Given the description of an element on the screen output the (x, y) to click on. 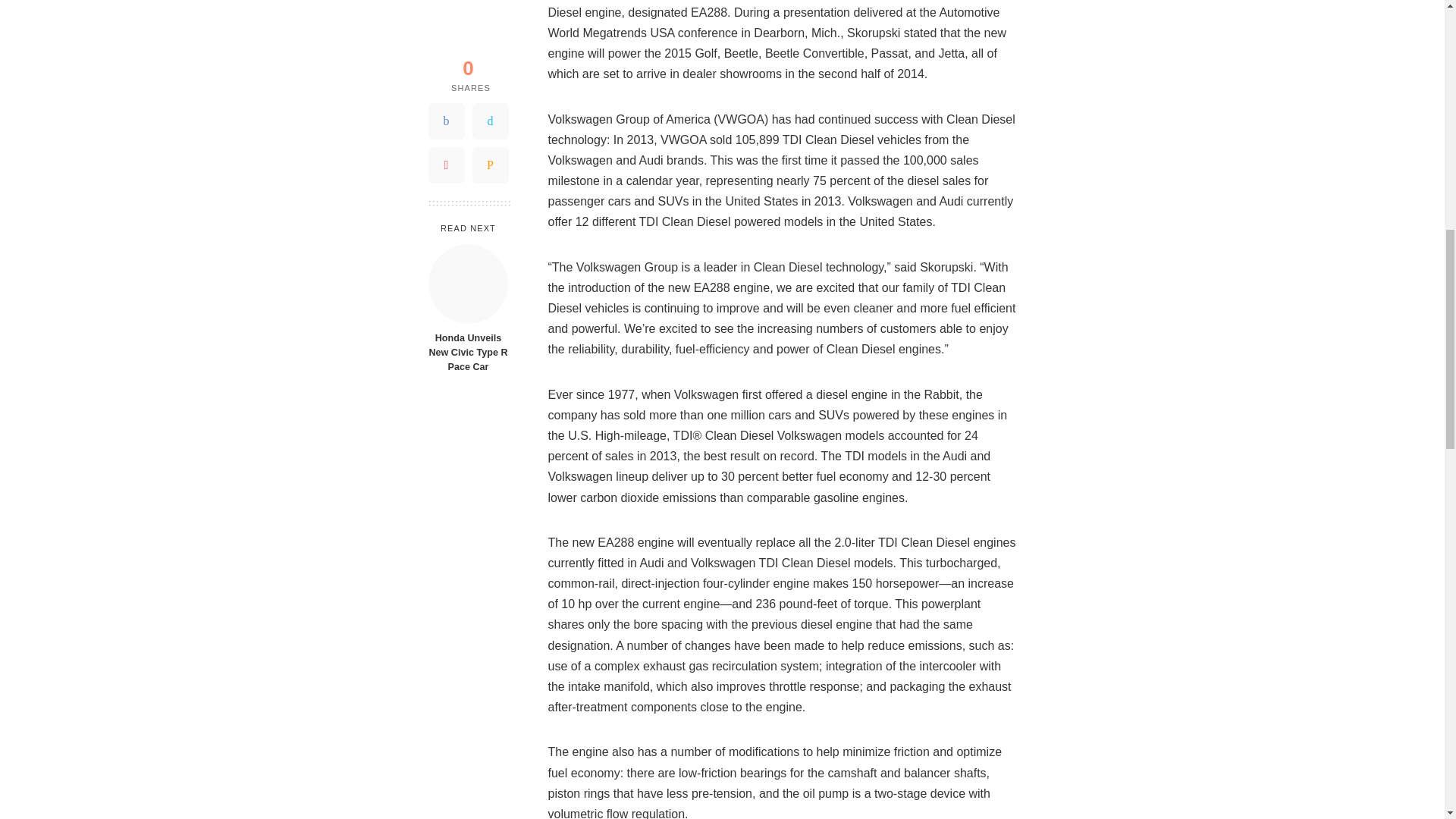
Facebook (446, 9)
Pinterest (446, 45)
Twitter (489, 9)
